Given the description of an element on the screen output the (x, y) to click on. 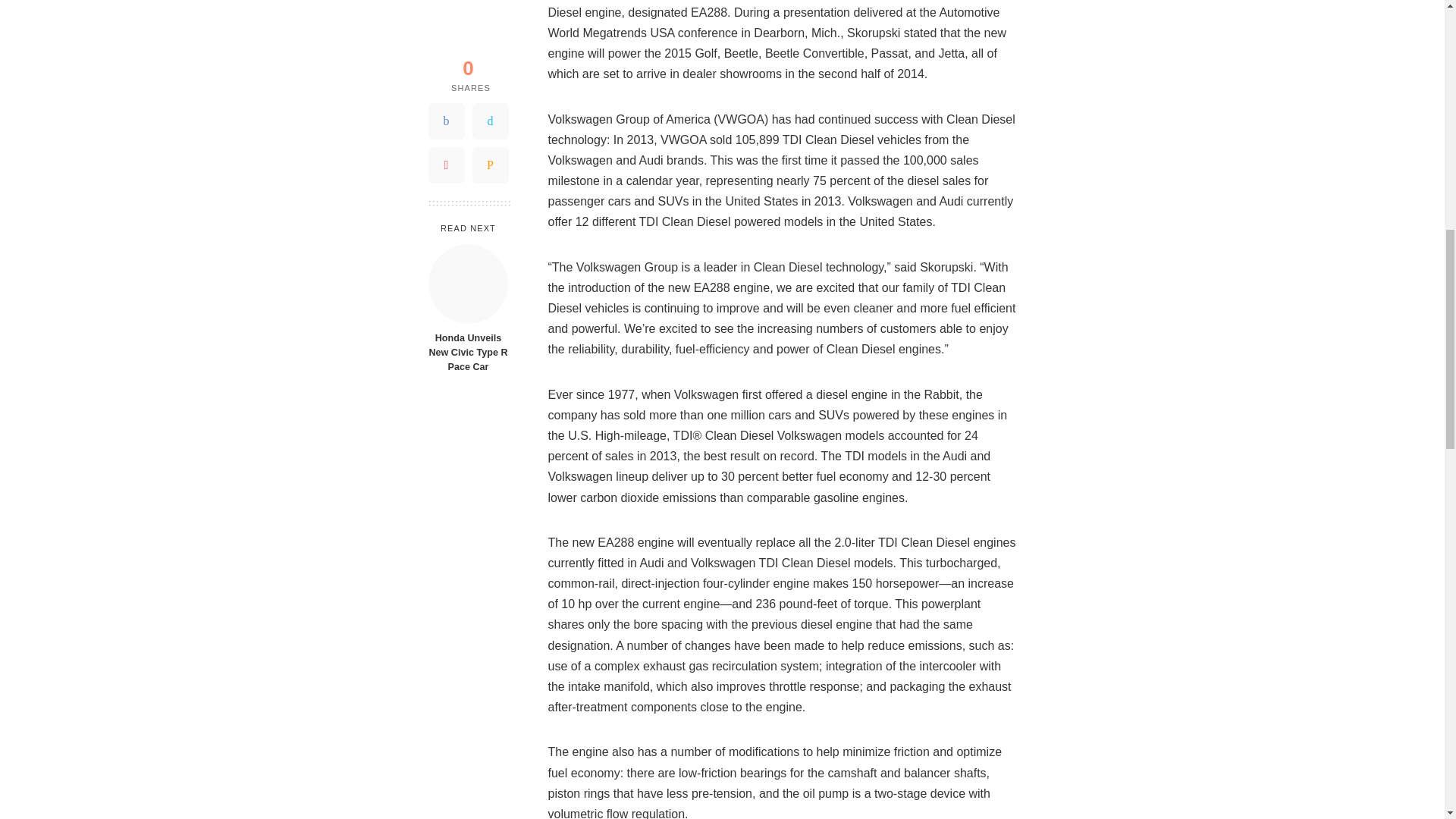
Facebook (446, 9)
Pinterest (446, 45)
Twitter (489, 9)
